Given the description of an element on the screen output the (x, y) to click on. 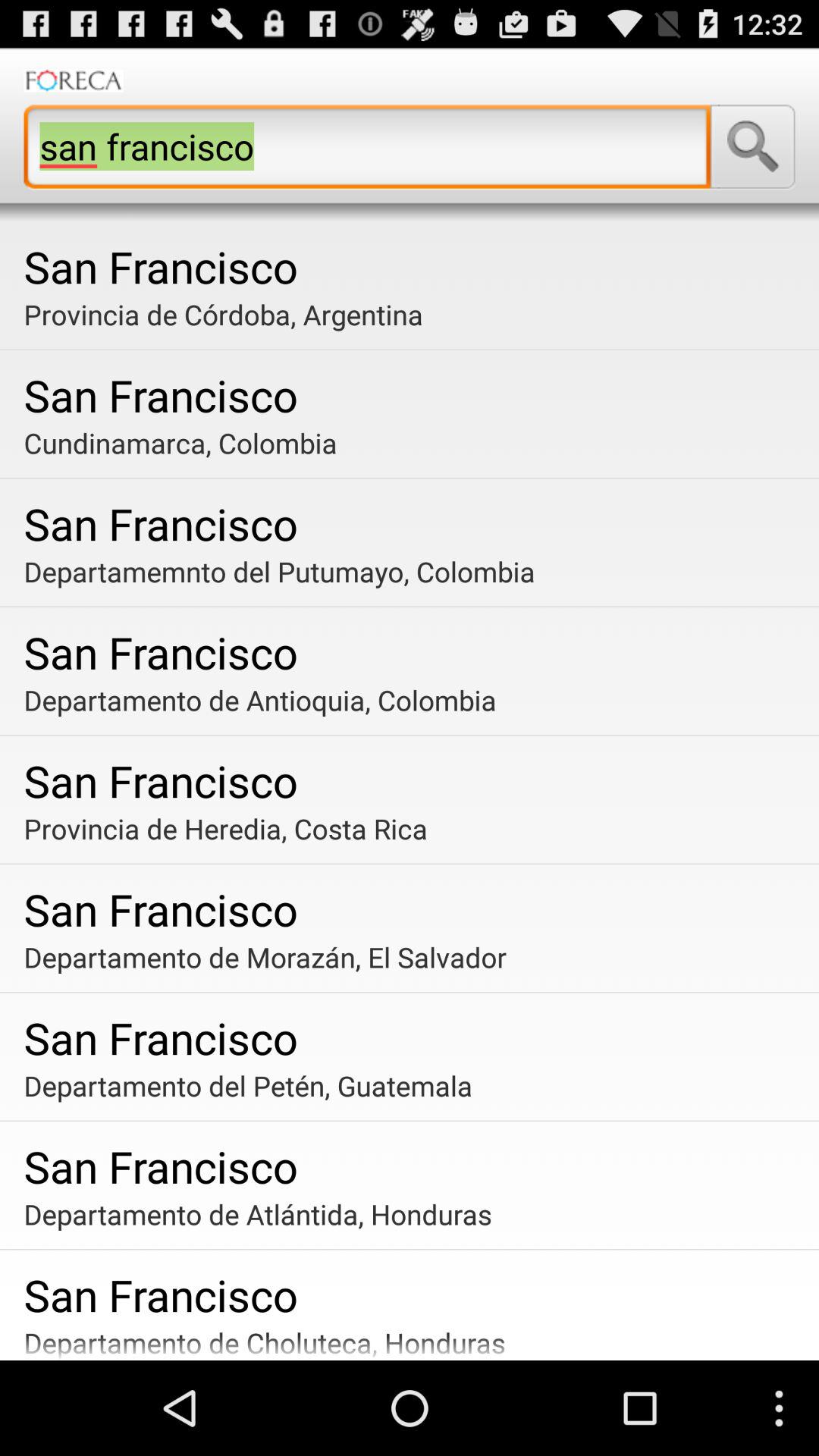
select the icon next to san francisco icon (752, 146)
